Given the description of an element on the screen output the (x, y) to click on. 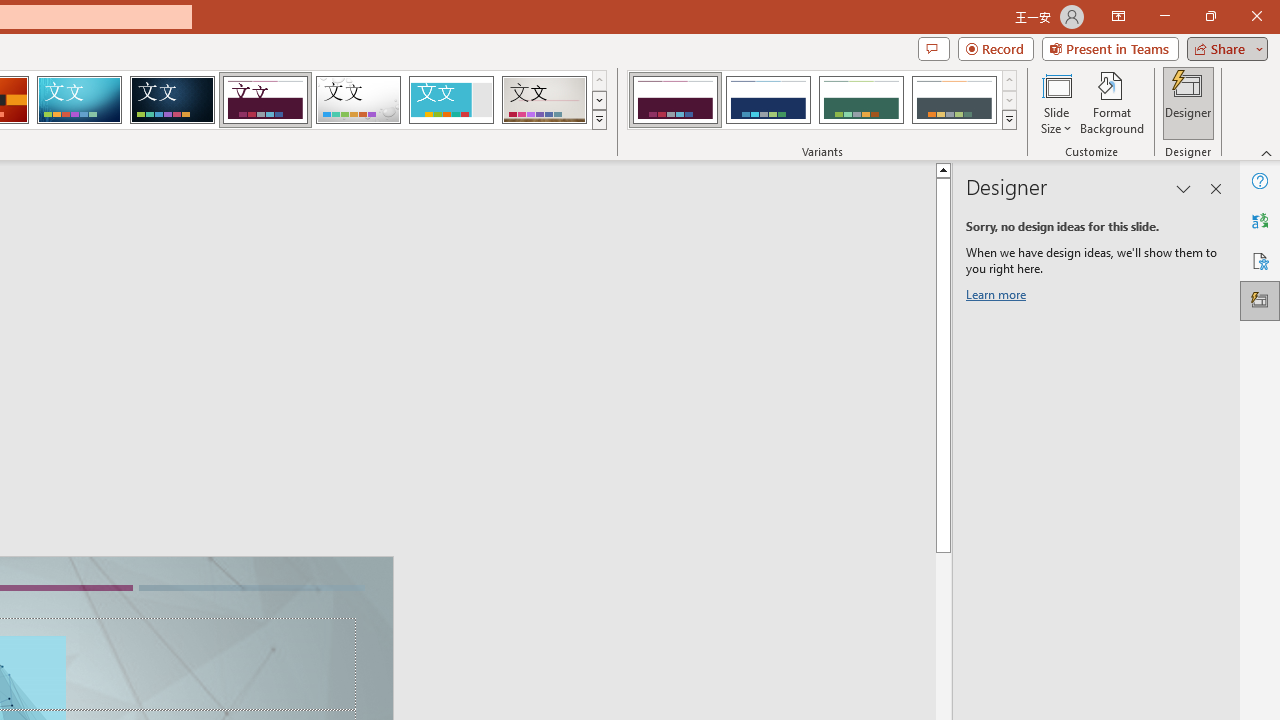
Learn more (998, 297)
Variants (1009, 120)
Dividend (265, 100)
Dividend Variant 4 (953, 100)
